Given the description of an element on the screen output the (x, y) to click on. 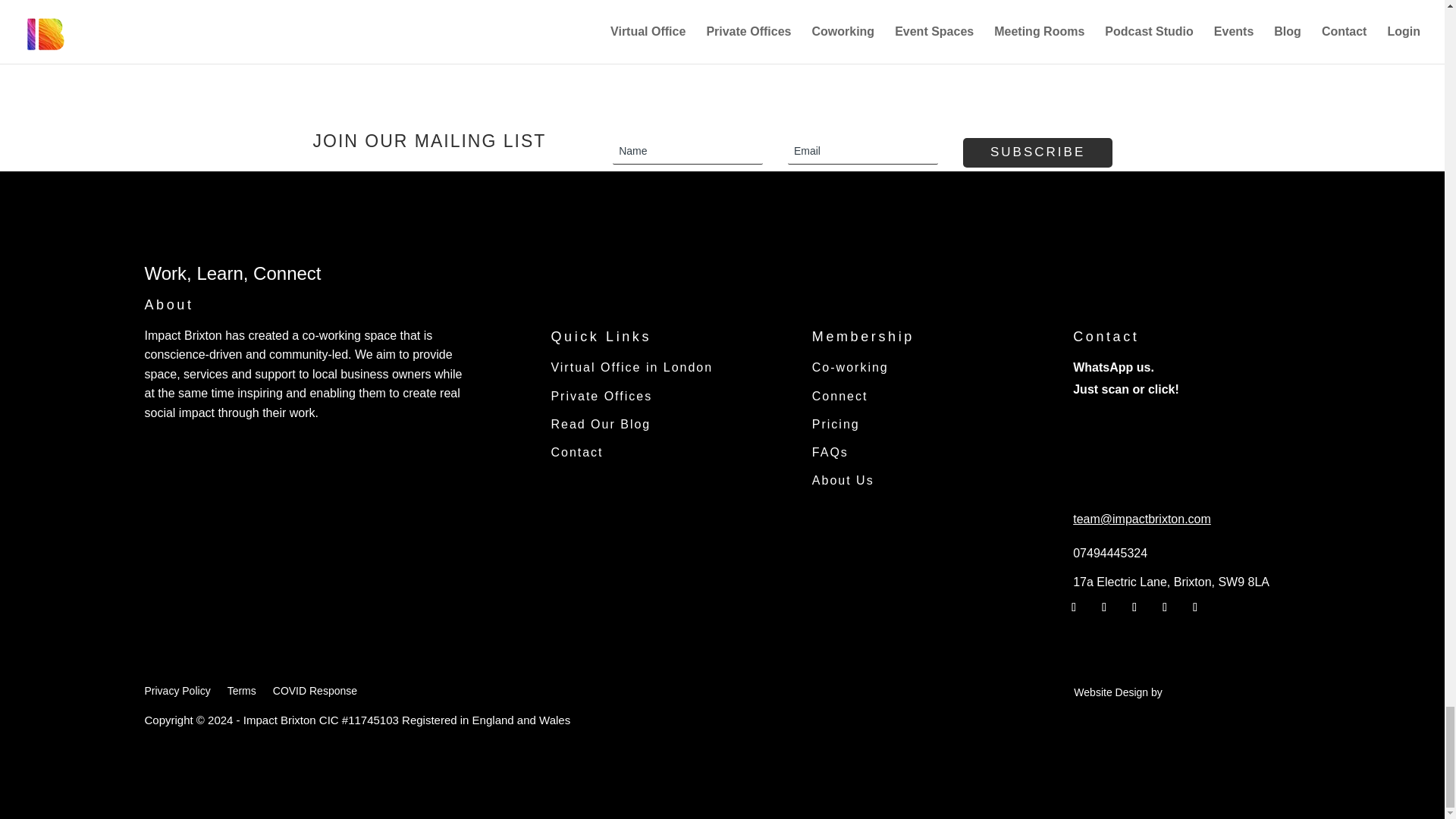
Guess-Design-House-Logo-White (1104, 719)
Contact (663, 452)
Follow on LinkedIn (1164, 607)
Follow on google-plus (1194, 607)
Virtual Office in London (663, 366)
SUBSCRIBE (1037, 152)
Pricing (925, 424)
Read Our Blog (663, 424)
Follow on Instagram (1134, 607)
Connect (925, 396)
whatsapp (1110, 442)
Follow on X (1104, 607)
Follow on Facebook (1073, 607)
IB Wavy Wordmark (257, 242)
Private Offices (663, 396)
